Given the description of an element on the screen output the (x, y) to click on. 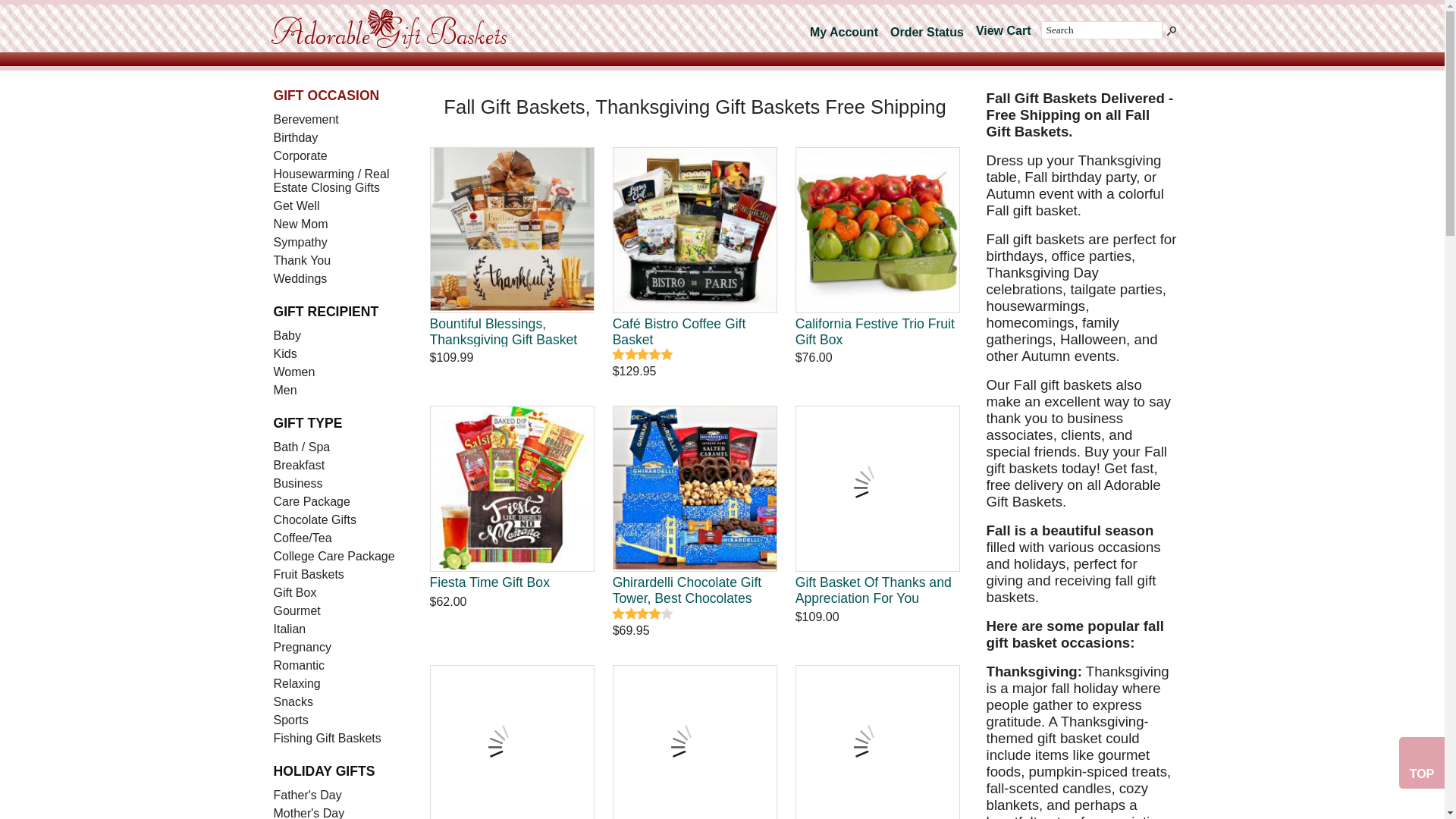
Baby (339, 335)
Thank You (339, 260)
Baby (339, 335)
New Mom (339, 224)
New Mom (339, 224)
Sports (339, 720)
Business (339, 484)
Thank You (339, 260)
Chocolate Gifts (339, 520)
Berevement (339, 119)
Weddings (339, 279)
Romantic (339, 665)
Get Well (339, 206)
Birthday (339, 137)
Kids (339, 353)
